Given the description of an element on the screen output the (x, y) to click on. 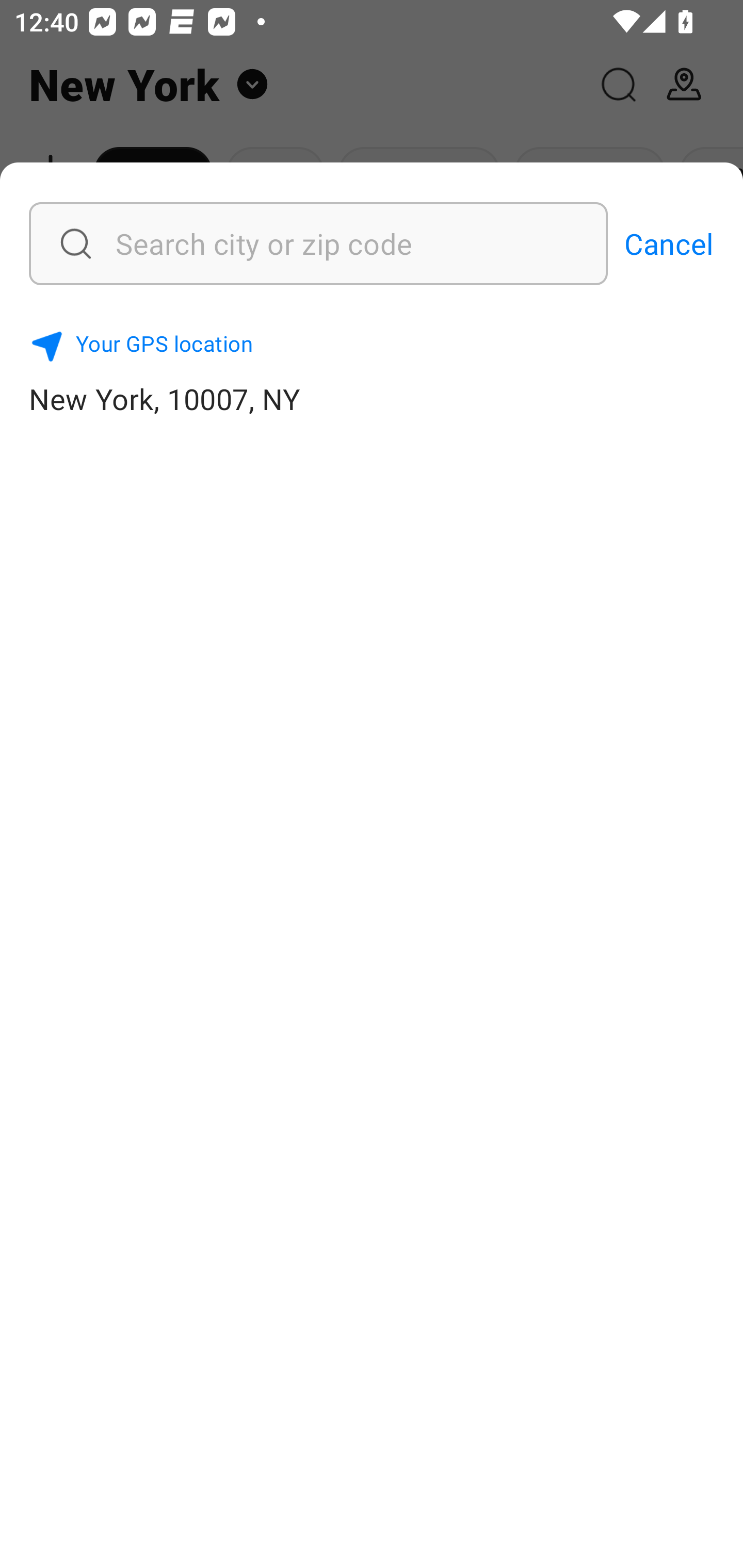
Search city or zip code (267, 243)
Cancel (669, 243)
Your GPS location New York, 10007, NY (371, 370)
